Given the description of an element on the screen output the (x, y) to click on. 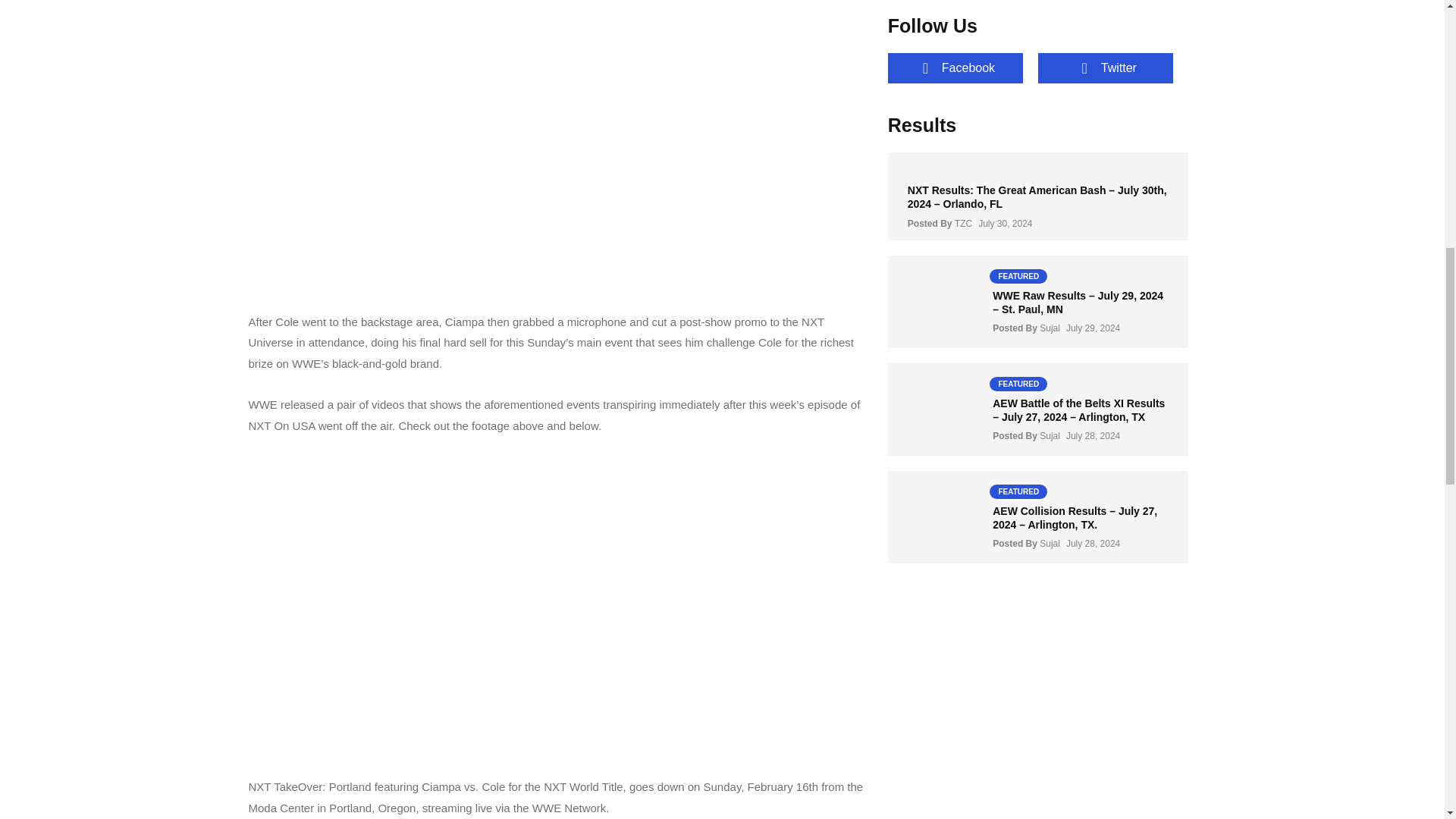
Posts by Sujal (1049, 543)
Twitter (1105, 67)
Posts by Sujal (1049, 327)
Posts by Sujal (1049, 435)
Posts by TZC (963, 223)
Facebook (955, 67)
